Given the description of an element on the screen output the (x, y) to click on. 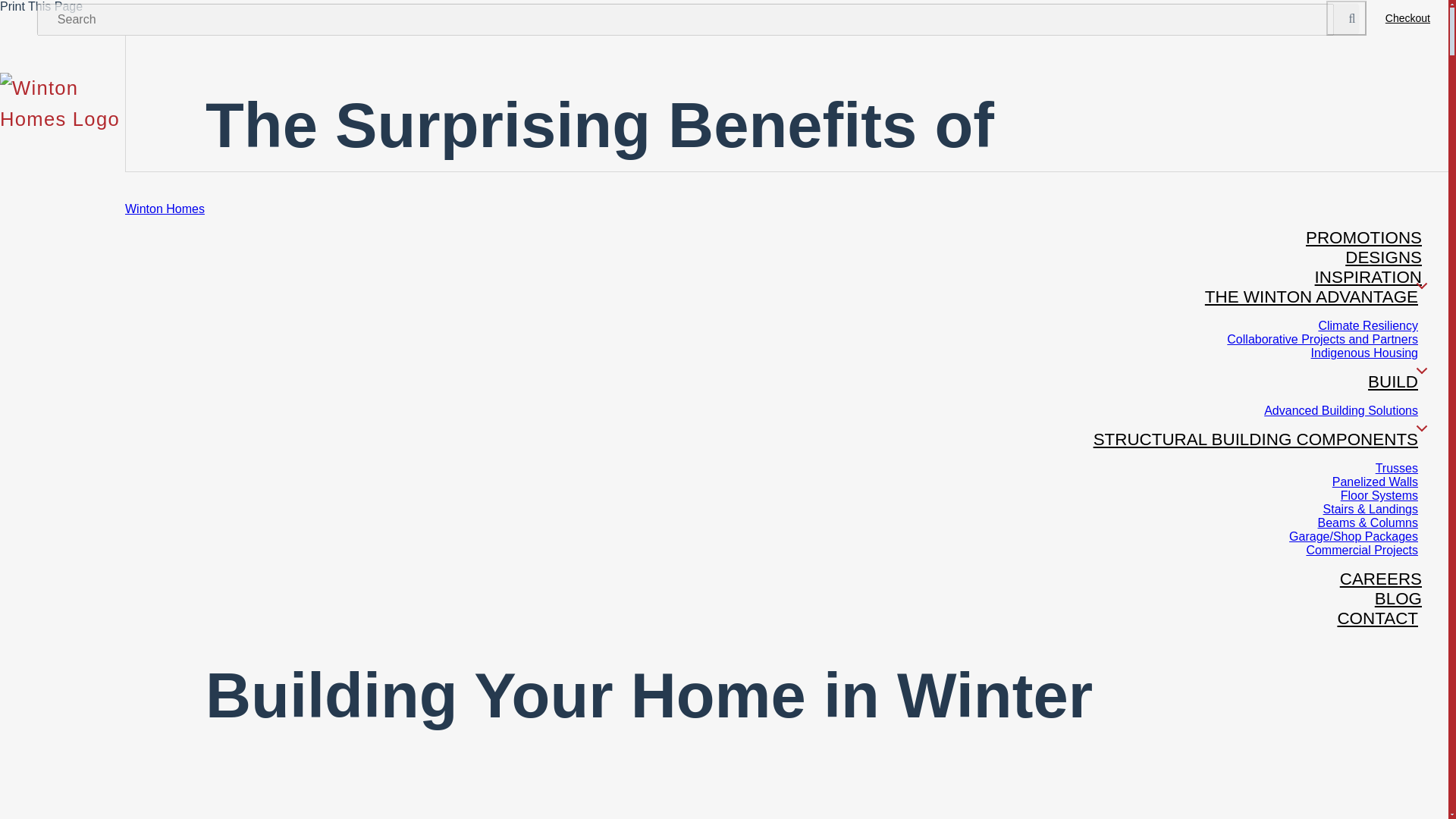
Print This Page (41, 6)
CAREERS (1380, 578)
Winton Homes (165, 208)
DESIGNS (1383, 256)
Panelized Walls (1380, 481)
Commercial Projects (1367, 549)
BUILD (1394, 381)
Advanced Building Solutions (1346, 410)
PROMOTIONS (1363, 237)
Climate Resiliency (1373, 325)
